Given the description of an element on the screen output the (x, y) to click on. 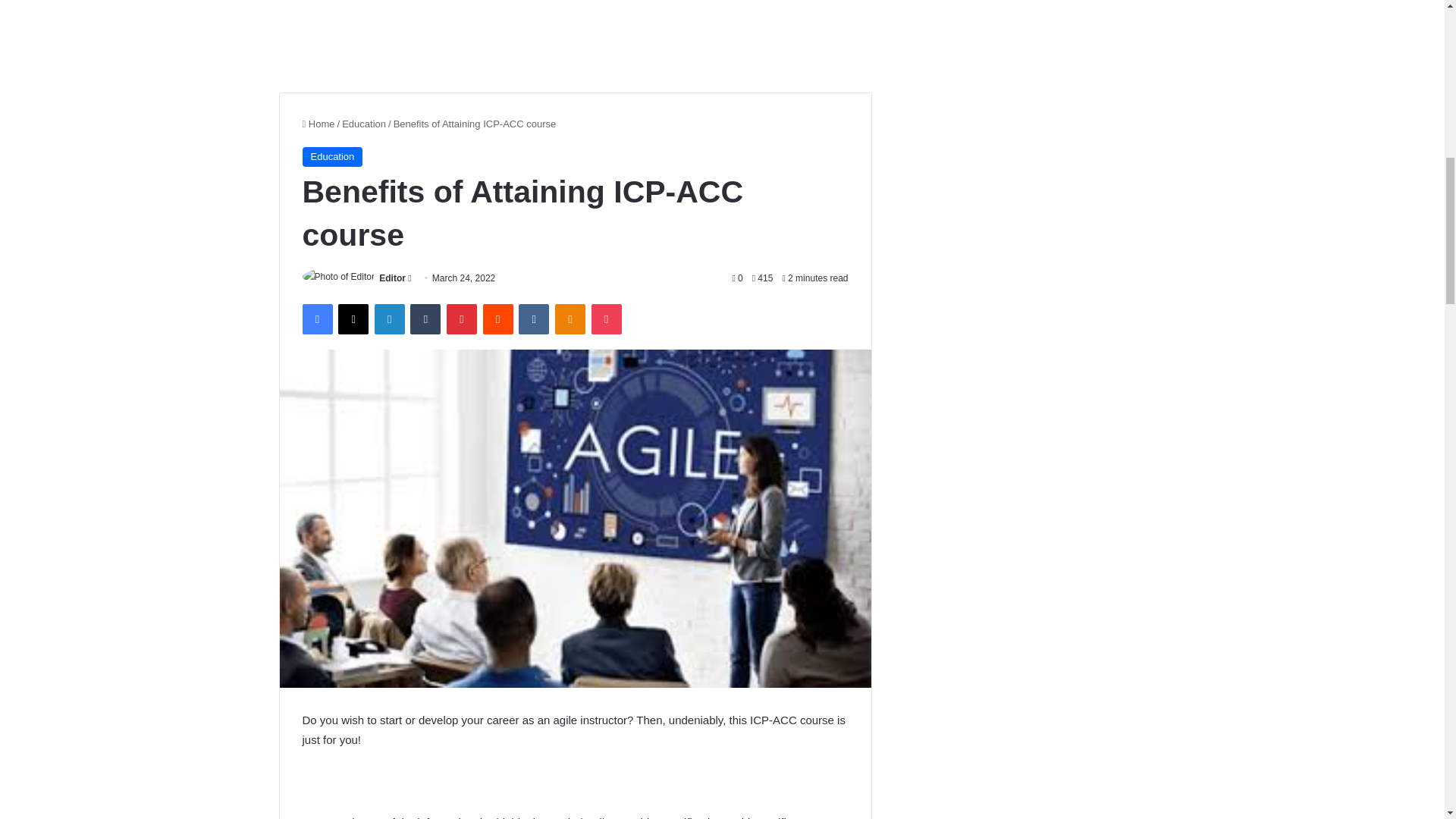
Pinterest (461, 318)
Home (317, 123)
LinkedIn (389, 318)
Editor (392, 277)
X (352, 318)
Pocket (606, 318)
VKontakte (533, 318)
Pinterest (461, 318)
Reddit (498, 318)
Facebook (316, 318)
